Given the description of an element on the screen output the (x, y) to click on. 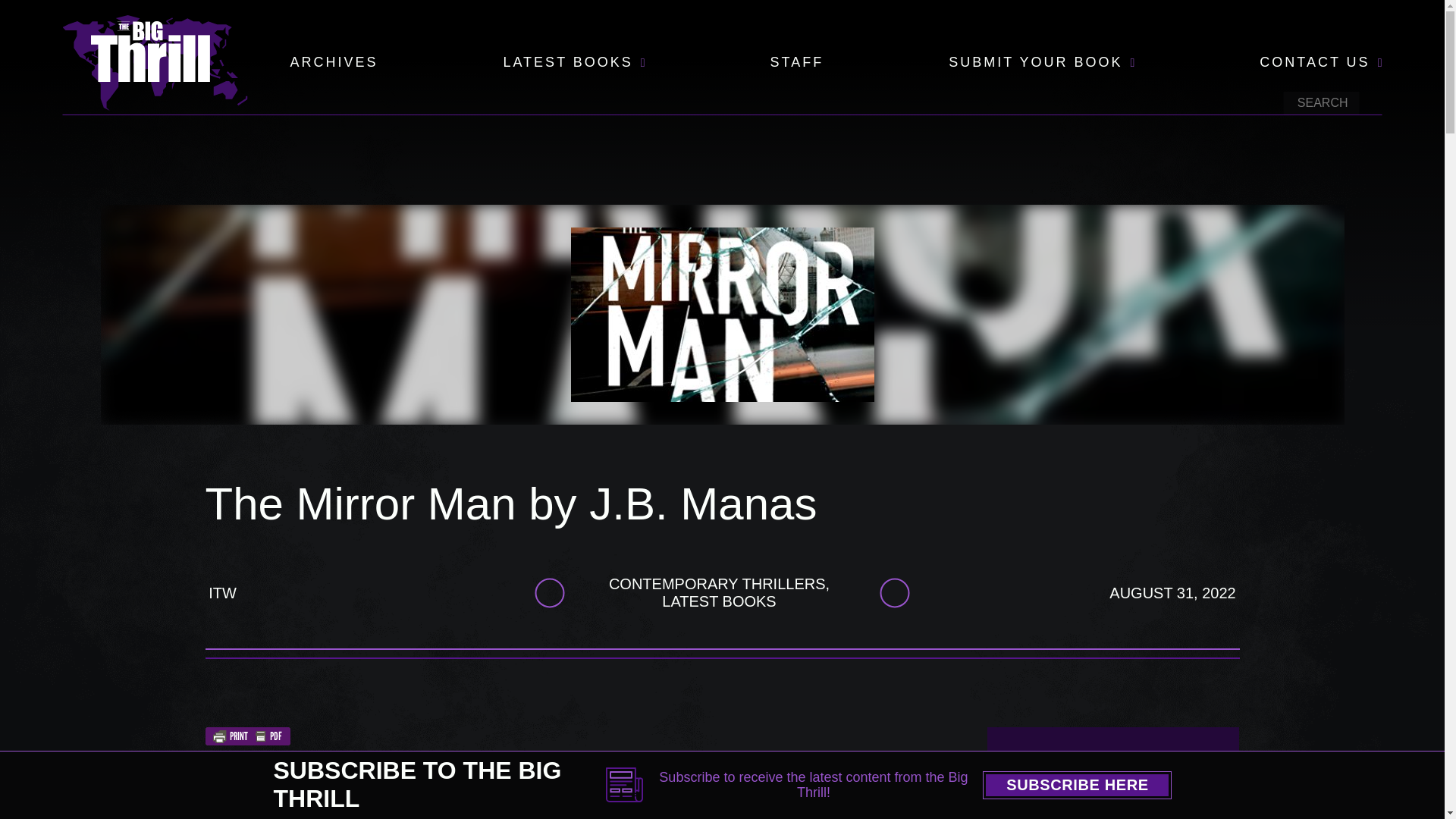
Motive for Murder by Ray Collins (1113, 816)
SUBMIT YOUR BOOK (1035, 62)
LATEST BOOKS (566, 62)
ARCHIVES (333, 62)
STAFF (797, 62)
CONTACT US (1314, 62)
